Given the description of an element on the screen output the (x, y) to click on. 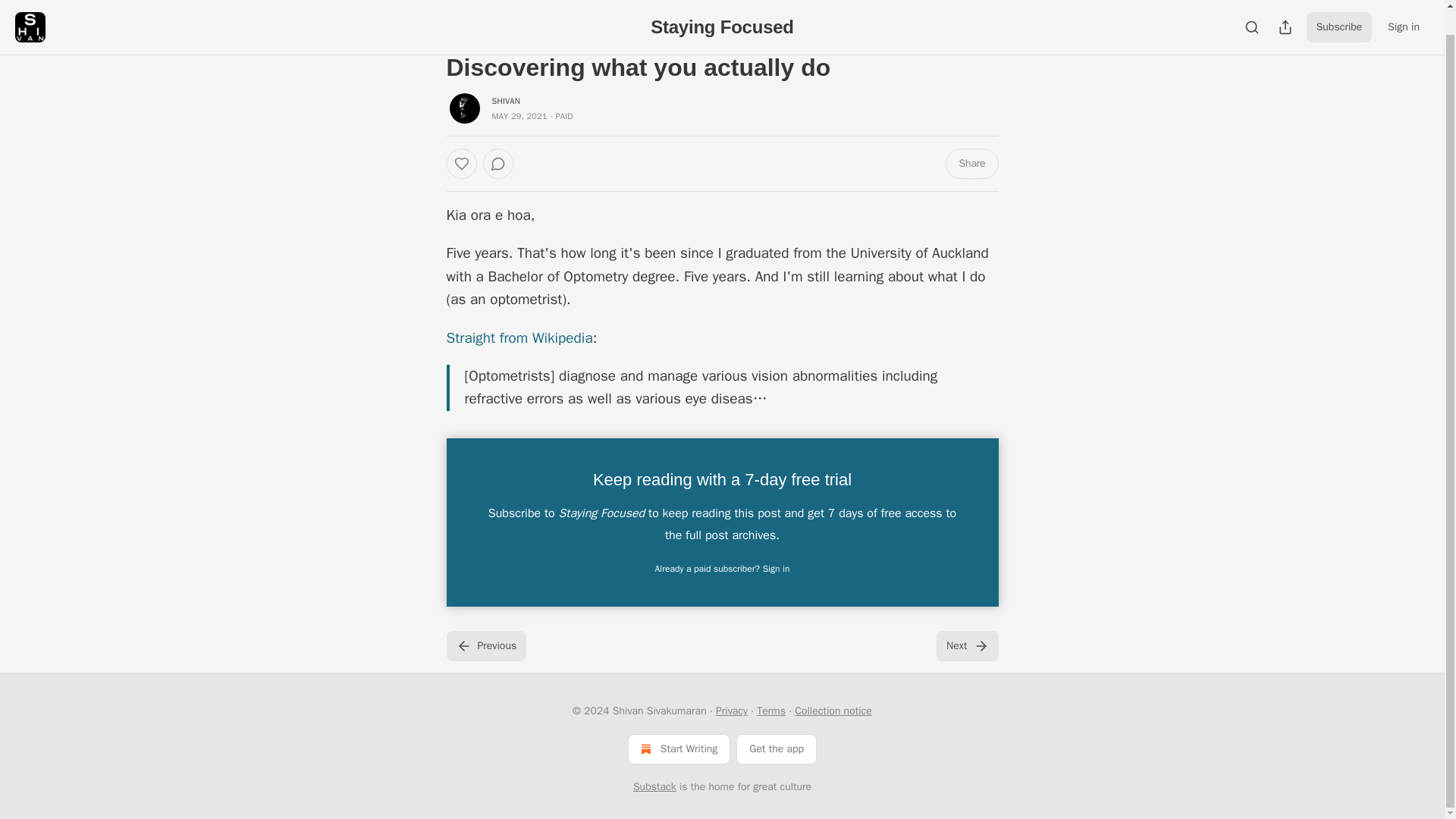
Privacy (732, 710)
SHIVAN (505, 100)
Get the app (776, 748)
Collection notice (832, 710)
Previous (485, 645)
Sign in (1403, 8)
Next (966, 645)
Straight from Wikipedia (518, 338)
Start Writing (678, 748)
Staying Focused (721, 6)
